Given the description of an element on the screen output the (x, y) to click on. 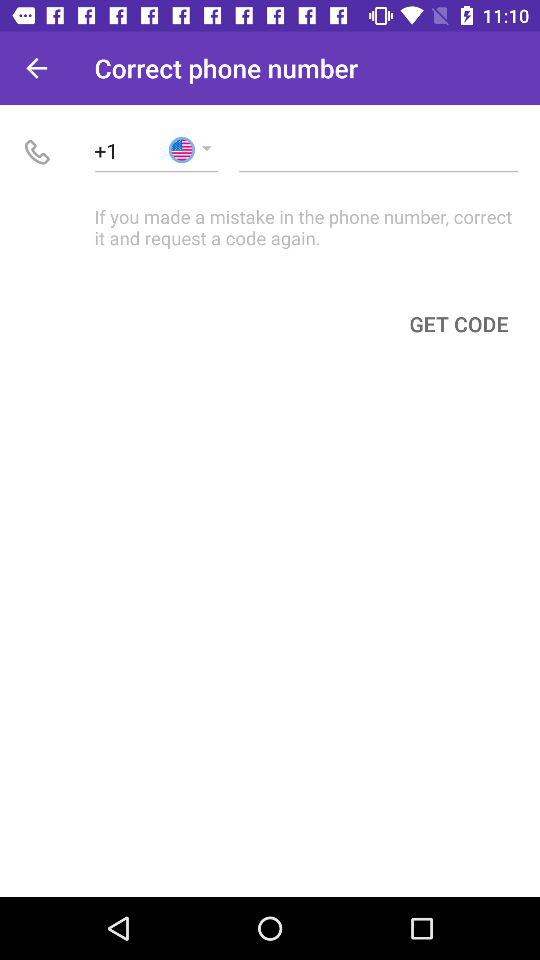
type phone number (378, 150)
